Given the description of an element on the screen output the (x, y) to click on. 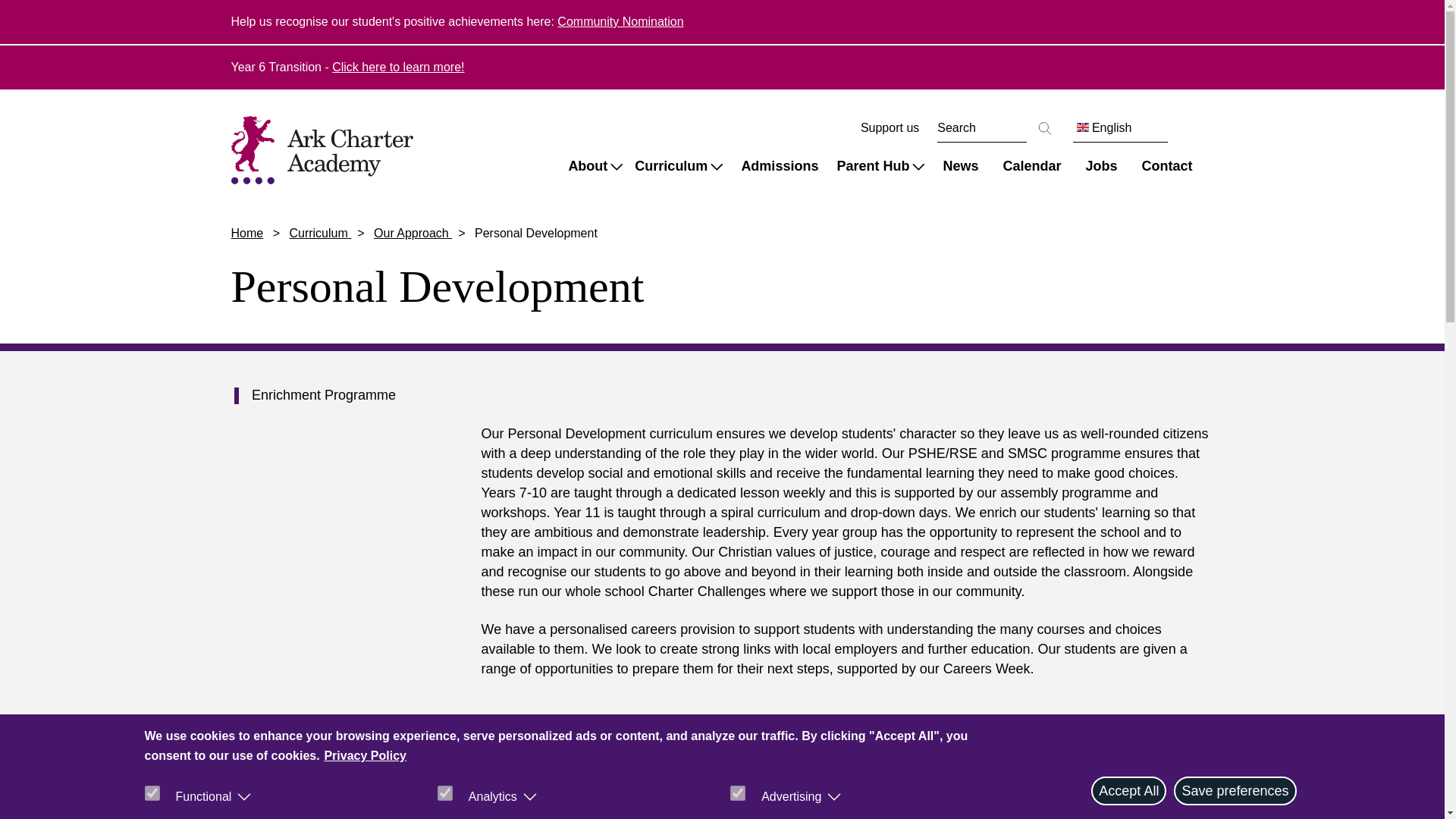
Save preferences (1234, 790)
Community Nomination (619, 21)
Skip to main content (67, 11)
analytics (445, 792)
Home (327, 149)
Parent Hub (879, 165)
Accept All (1128, 790)
Apply (1044, 127)
Admissions (779, 165)
Click here to learn more! (397, 66)
About (595, 165)
ad (737, 792)
func (151, 792)
Curriculum (678, 165)
